Given the description of an element on the screen output the (x, y) to click on. 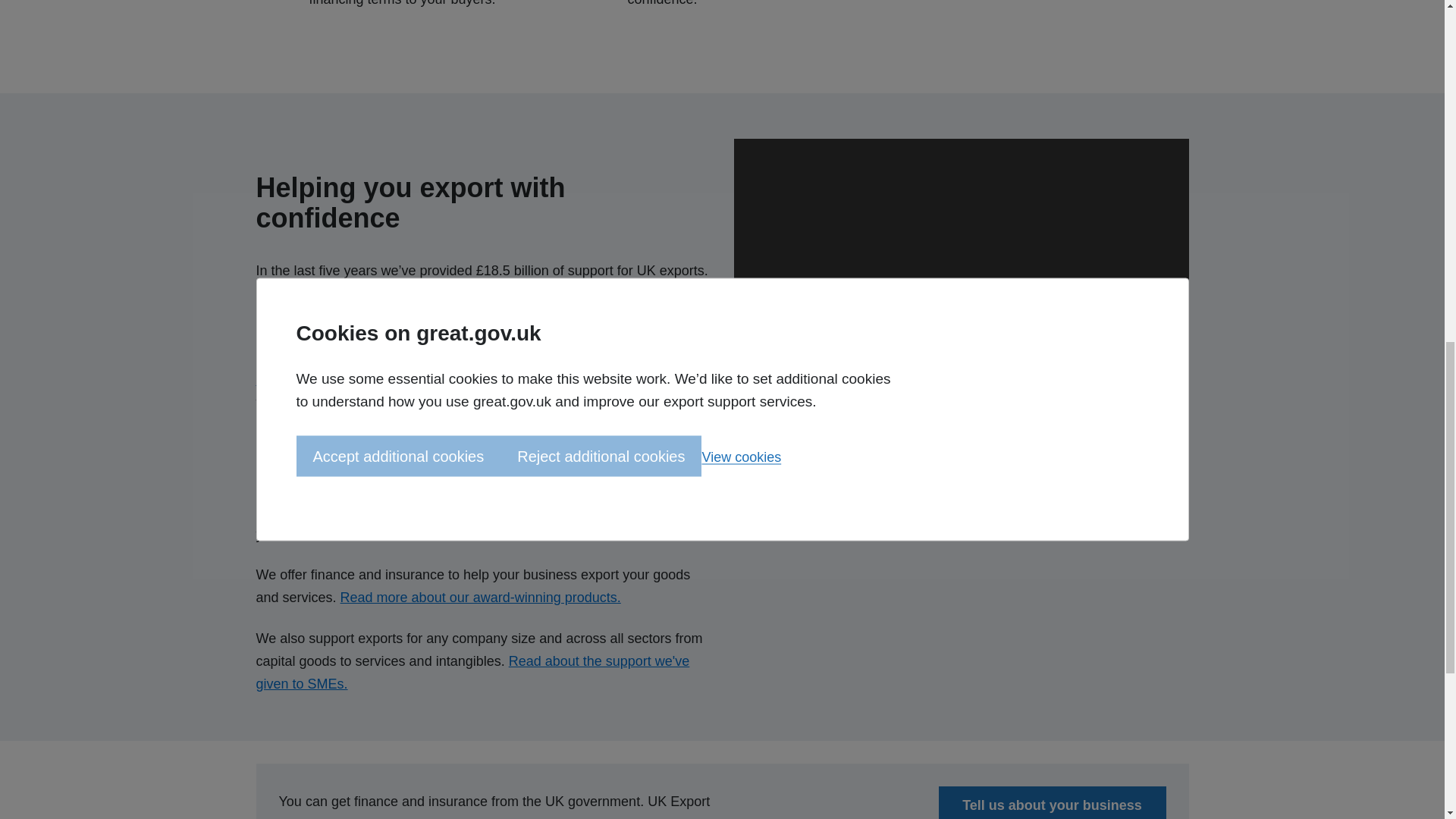
Read about the support we've given to SMEs. (473, 672)
Read more about our award-winning products. (480, 597)
Tell us about your business (1052, 802)
Find your nearest EFM (325, 379)
